Given the description of an element on the screen output the (x, y) to click on. 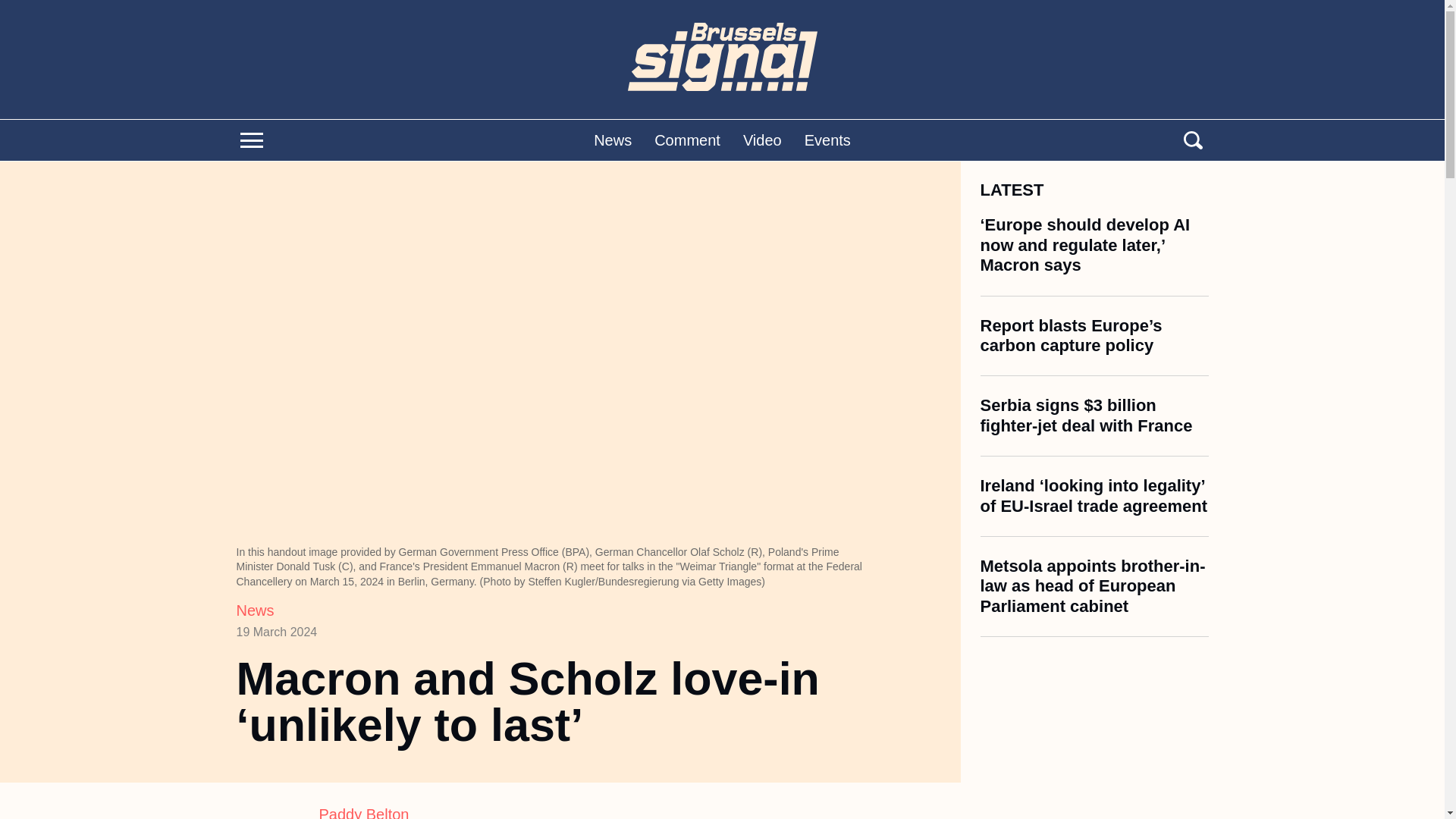
News (255, 610)
Events (827, 140)
Paddy Belton (597, 810)
Video (761, 140)
News (612, 140)
Comment (686, 140)
